Given the description of an element on the screen output the (x, y) to click on. 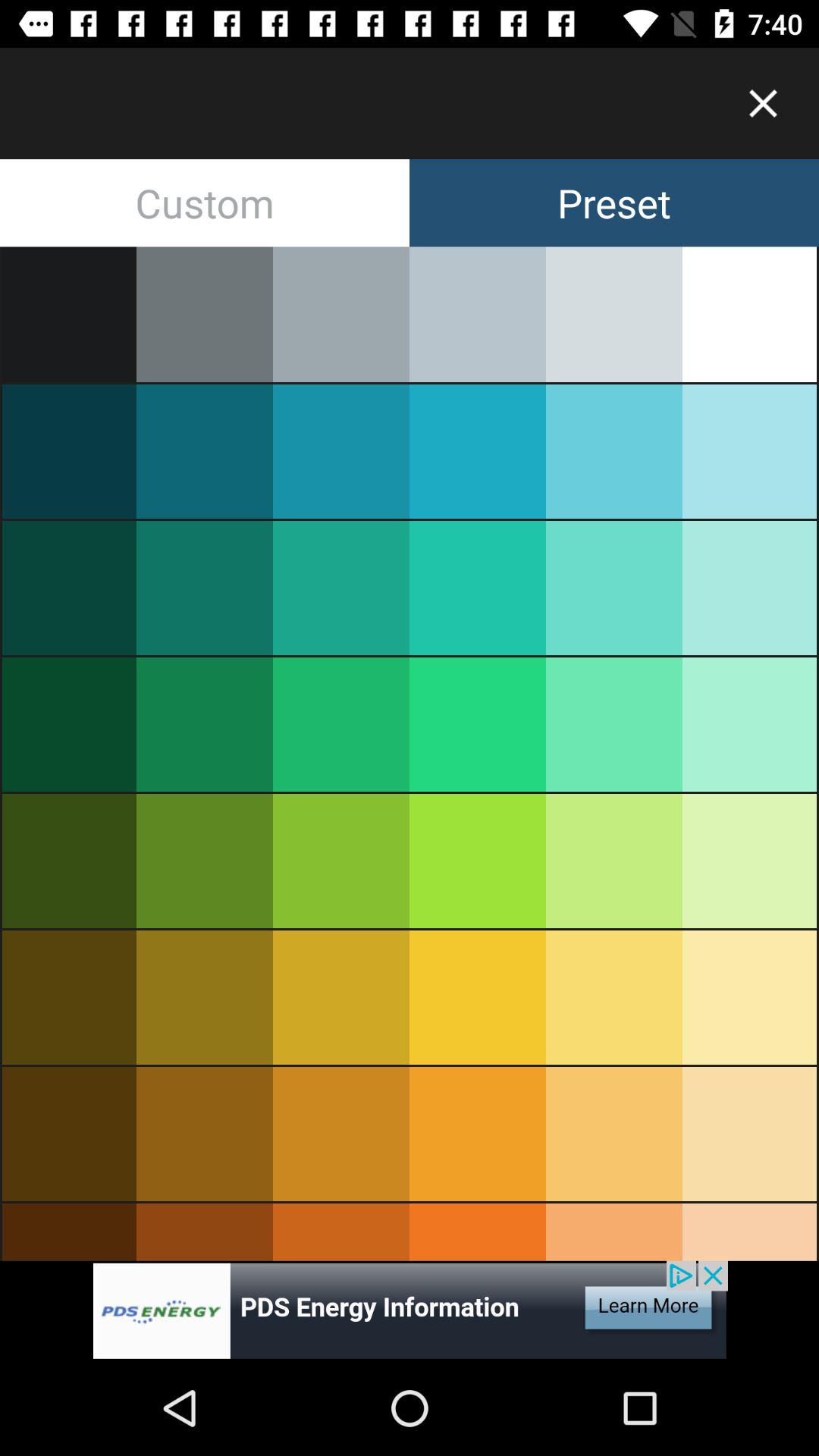
close color options (763, 103)
